Given the description of an element on the screen output the (x, y) to click on. 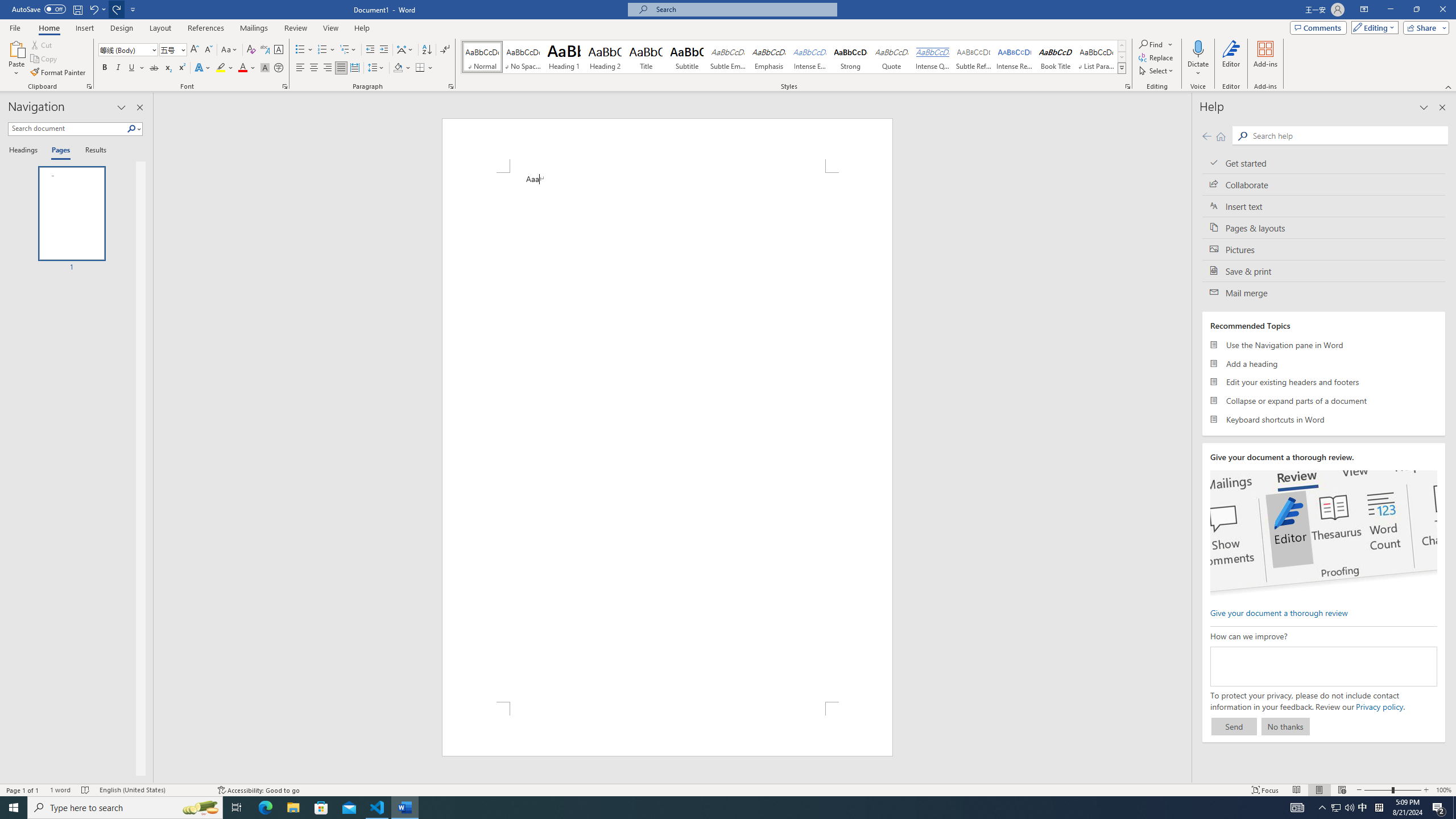
Copy (45, 58)
Previous page (1206, 136)
Row Down (1121, 56)
Enclose Characters... (278, 67)
Font Color (246, 67)
Privacy policy (1379, 706)
Multilevel List (347, 49)
Microsoft search (742, 9)
